Given the description of an element on the screen output the (x, y) to click on. 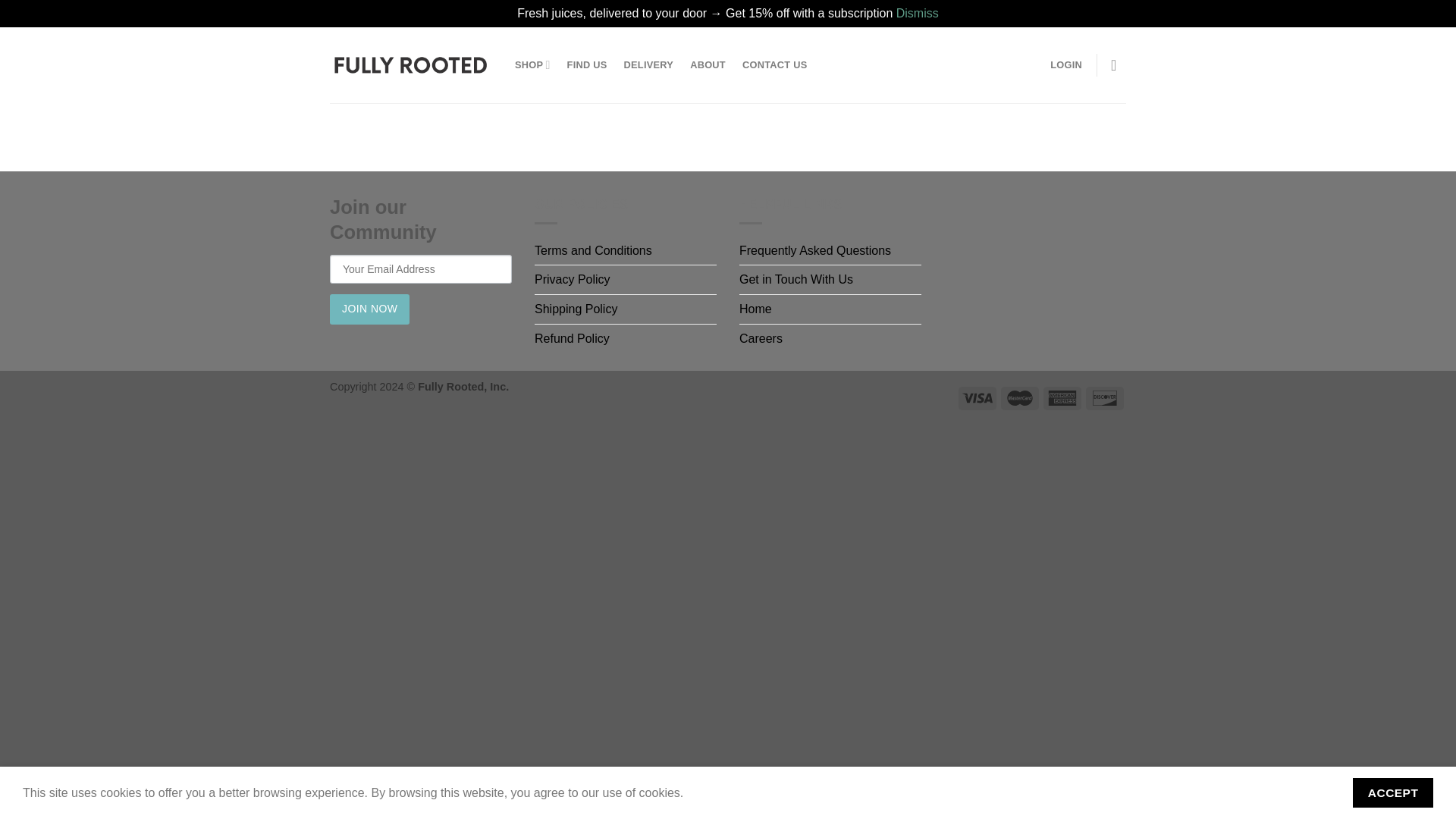
LOGIN (1065, 64)
Fully Rooted - Nourish Your Body (411, 64)
Privacy Policy (572, 279)
Get in Touch With Us (796, 279)
Terms and Conditions (593, 250)
Careers (761, 338)
JOIN NOW (369, 309)
Shipping Policy (575, 308)
Frequently Asked Questions (815, 250)
Refund Policy (572, 338)
SHOP (532, 64)
ABOUT (707, 64)
CONTACT US (775, 64)
Home (755, 308)
DELIVERY (649, 64)
